Given the description of an element on the screen output the (x, y) to click on. 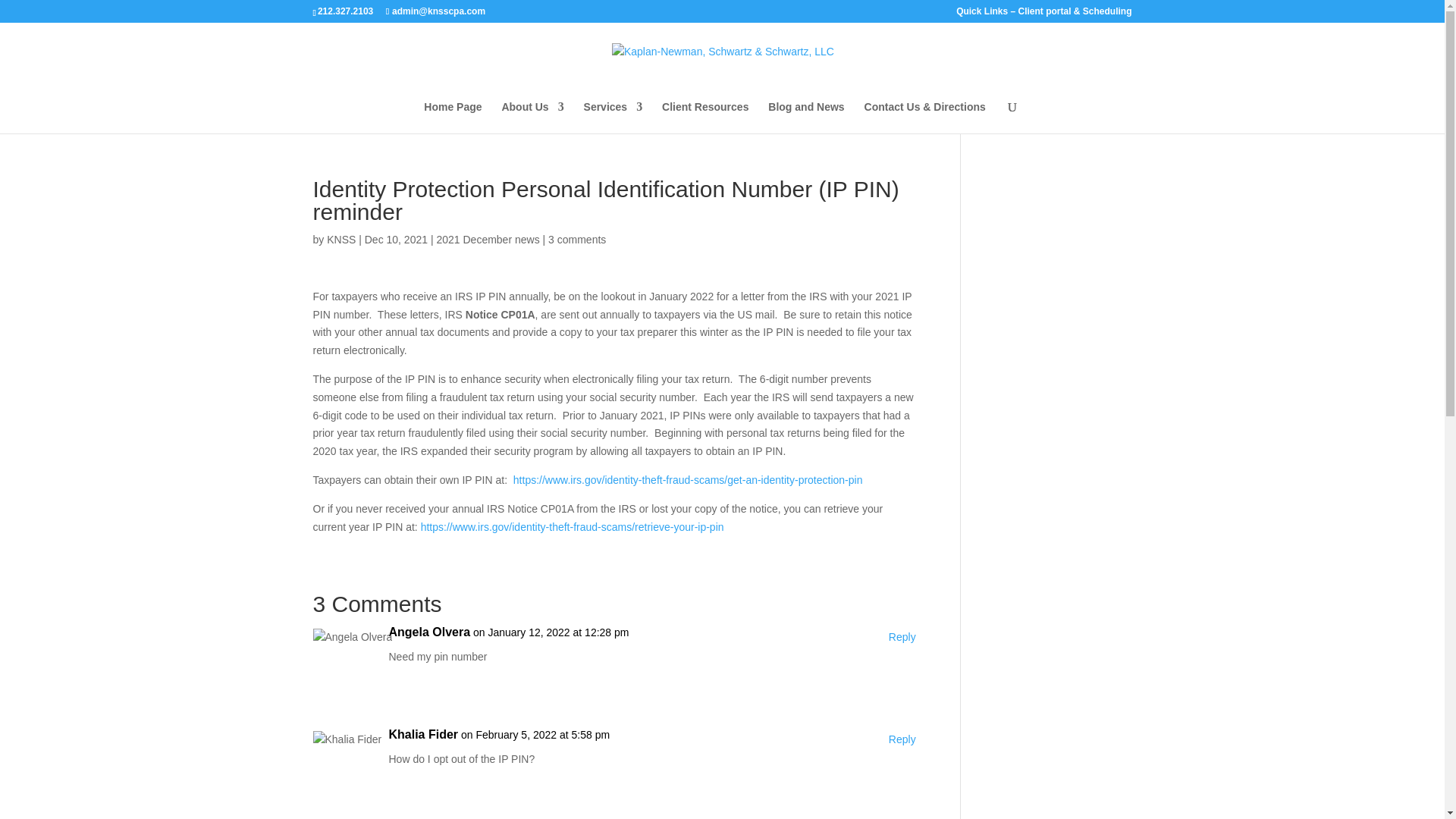
Home Page (452, 117)
Reply (901, 637)
About Us (531, 117)
Client Resources (705, 117)
Blog and News (806, 117)
3 comments (576, 239)
Posts by KNSS (340, 239)
2021 December news (486, 239)
Services (613, 117)
Angela Olvera (429, 632)
KNSS (340, 239)
Reply (901, 740)
